Given the description of an element on the screen output the (x, y) to click on. 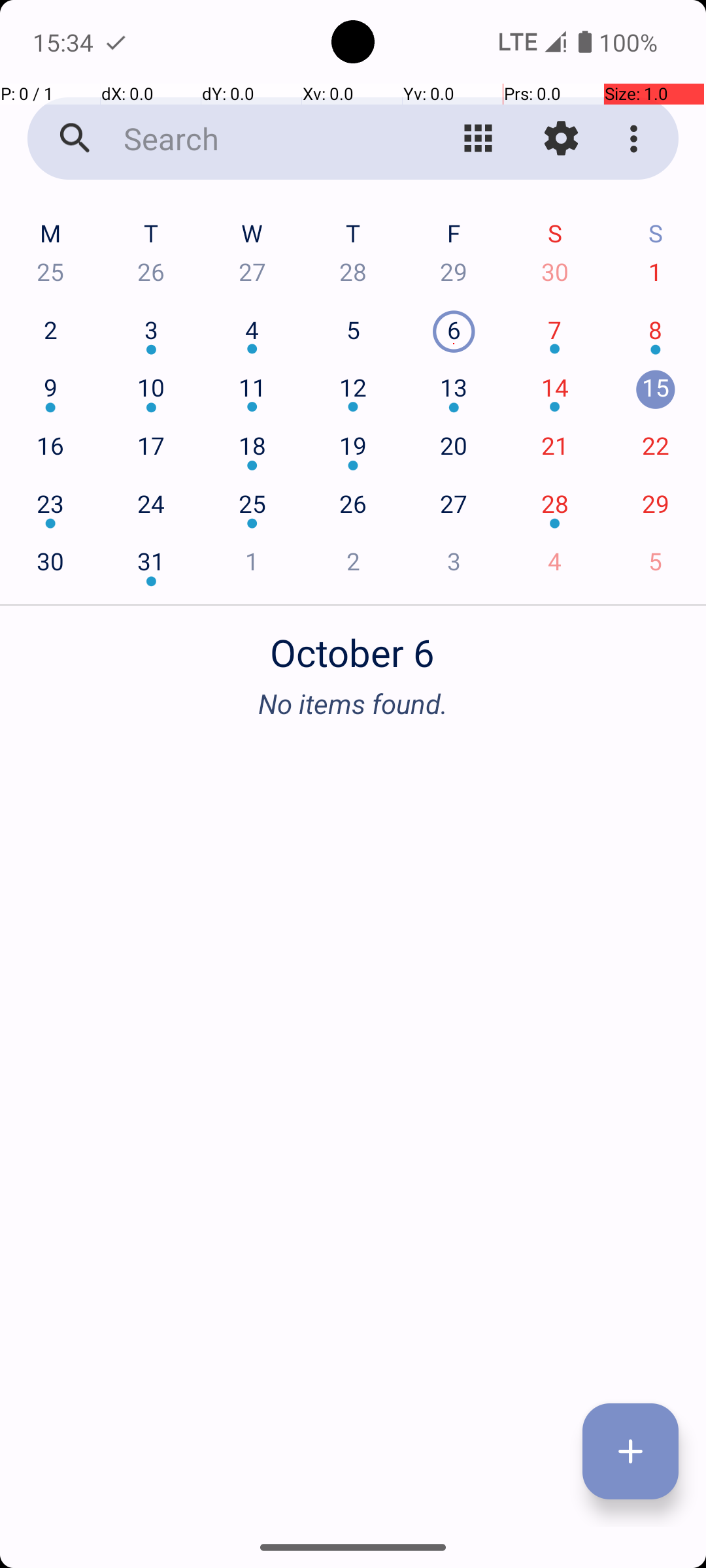
October 6 Element type: android.widget.TextView (352, 644)
